Given the description of an element on the screen output the (x, y) to click on. 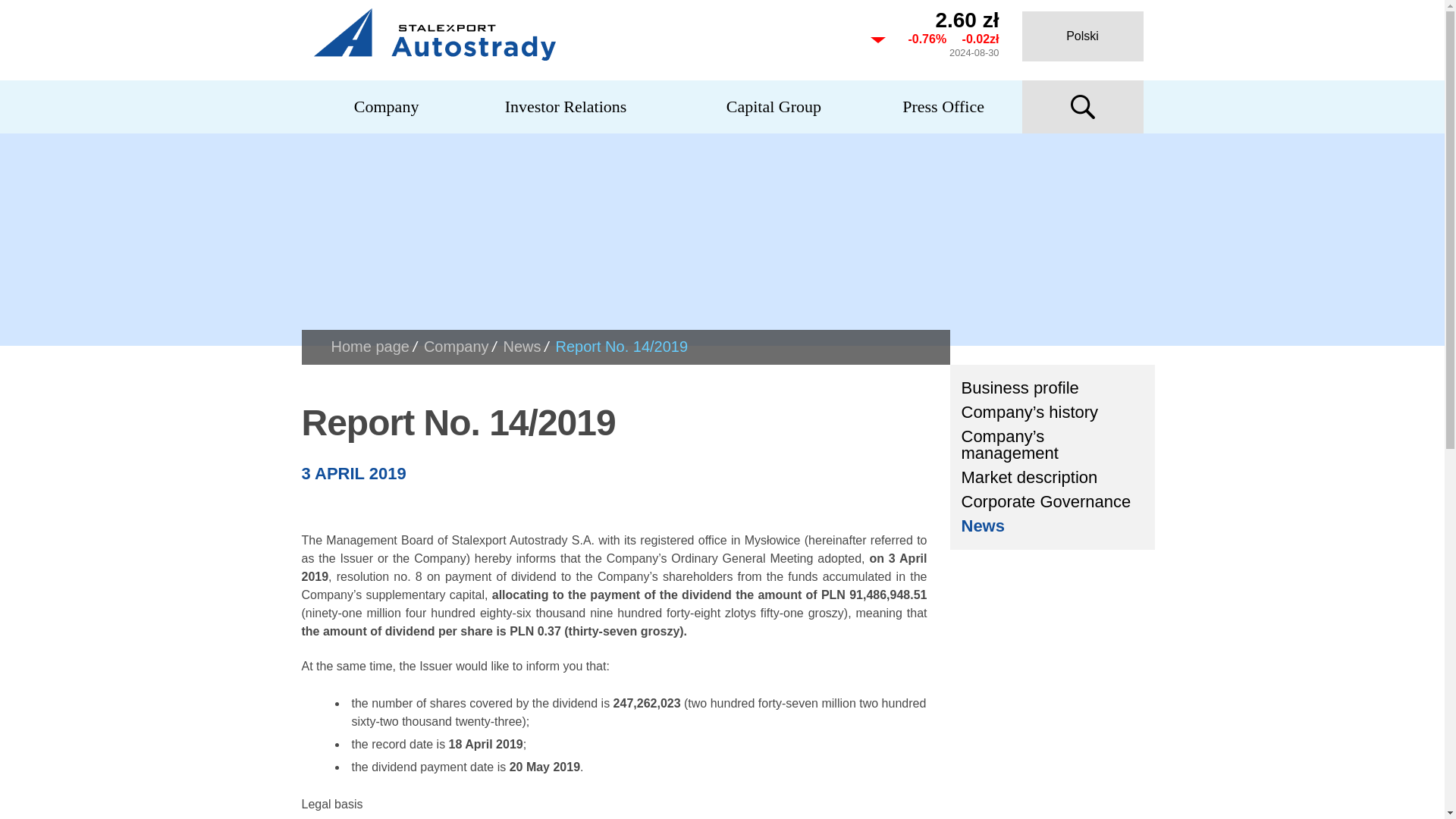
Press Office (943, 106)
Business profile (1051, 387)
Company (456, 346)
search (1082, 106)
Home page (369, 346)
Corporate Governance (1051, 501)
News (1051, 526)
Polska (1082, 36)
Market description (1051, 477)
Company (386, 106)
